Given the description of an element on the screen output the (x, y) to click on. 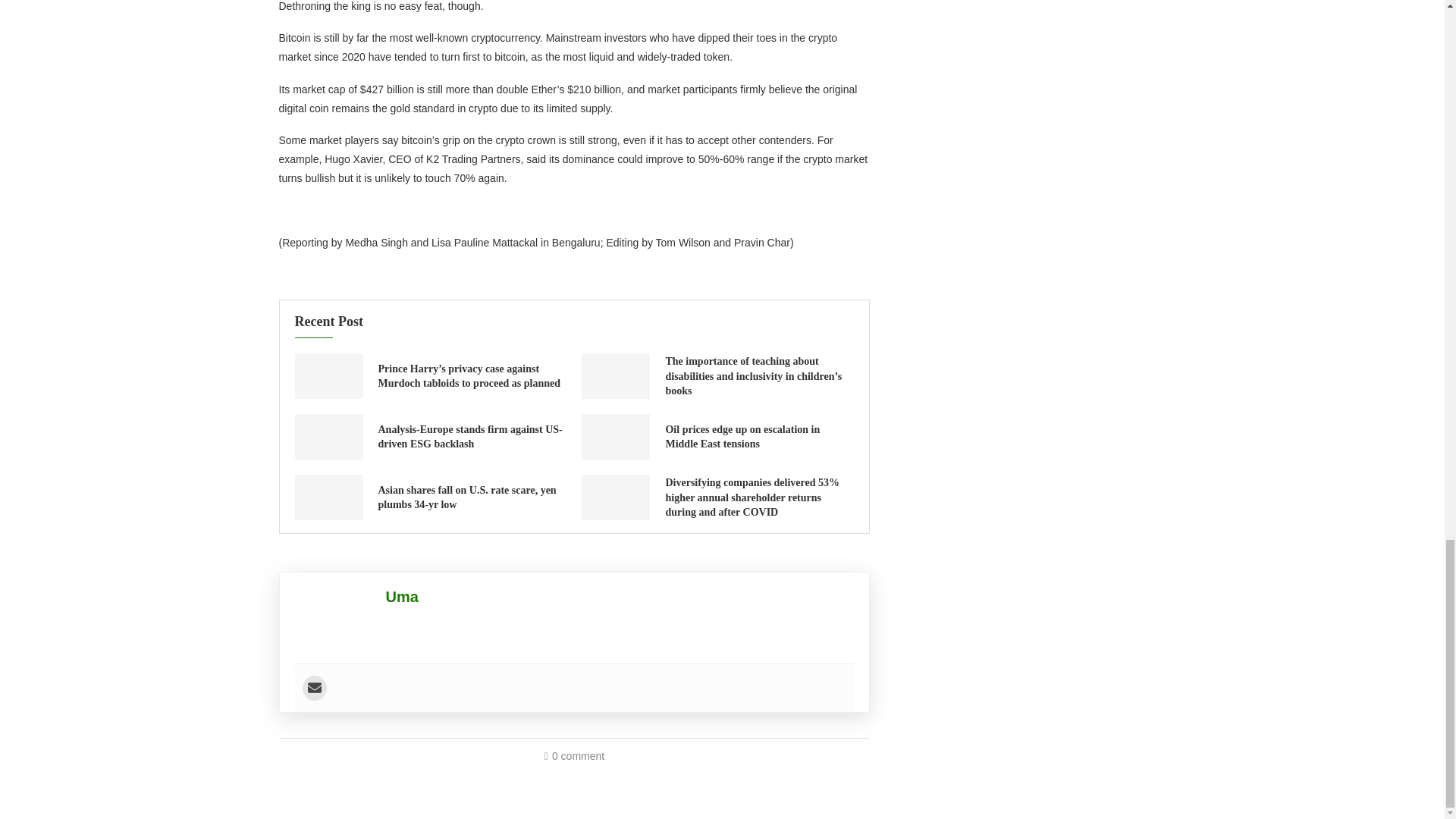
Analysis-Europe stands firm against US-driven ESG backlash (469, 437)
Oil prices edge up on escalation in Middle East tensions (614, 436)
Uma (401, 596)
Asian shares fall on U.S. rate scare, yen plumbs 34-yr low (466, 497)
Asian shares fall on U.S. rate scare, yen plumbs 34-yr low (328, 497)
Oil prices edge up on escalation in Middle East tensions (742, 437)
Analysis-Europe stands firm against US-driven ESG backlash (328, 436)
User email (313, 688)
